Given the description of an element on the screen output the (x, y) to click on. 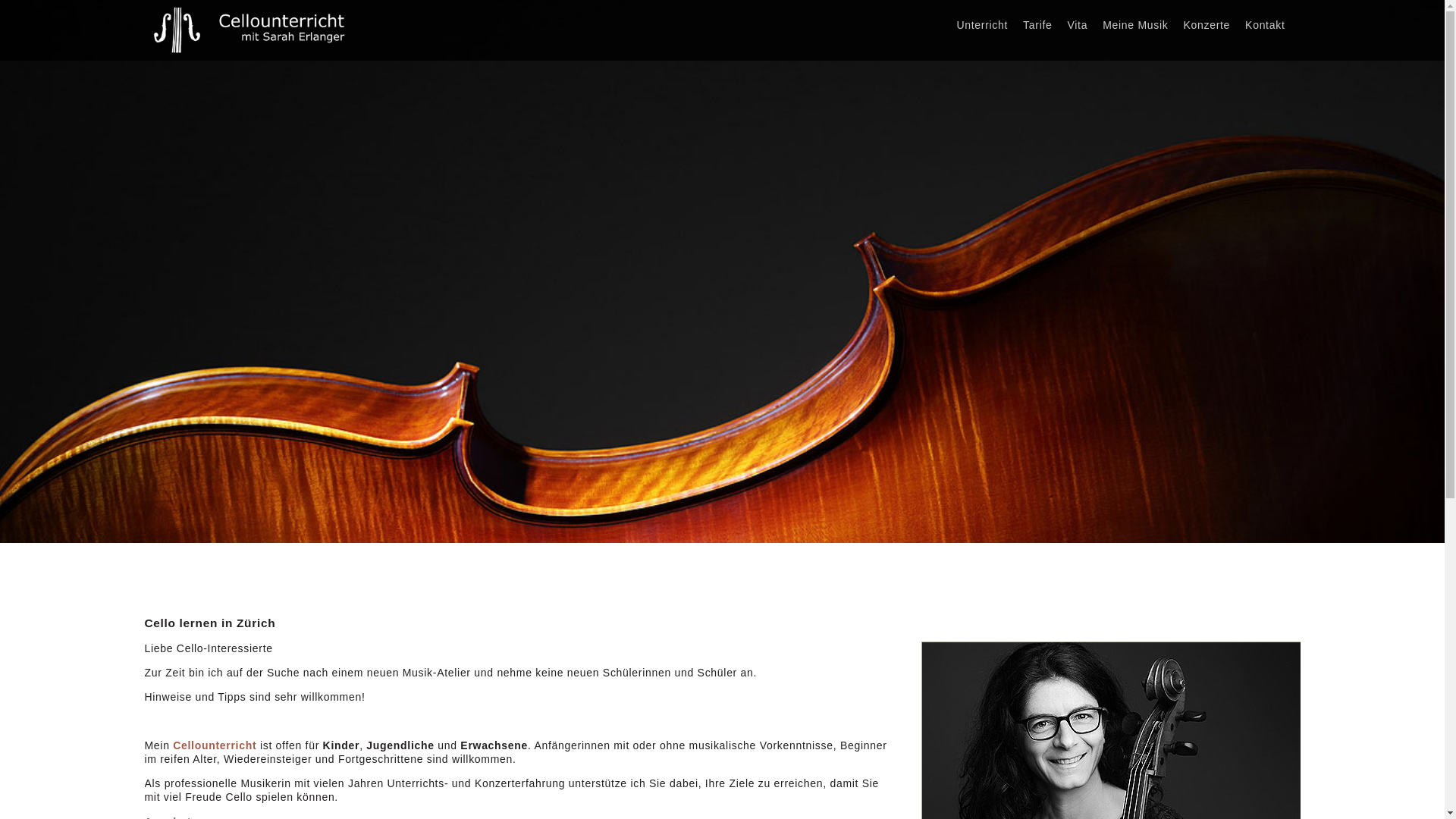
Kontakt Element type: text (1264, 24)
Cellounterricht Element type: text (214, 745)
Meine Musik Element type: text (1134, 24)
Unterricht Element type: text (981, 24)
Tarife Element type: text (1036, 24)
Konzerte Element type: text (1206, 24)
Vita Element type: text (1077, 24)
  Element type: text (1299, 18)
